Given the description of an element on the screen output the (x, y) to click on. 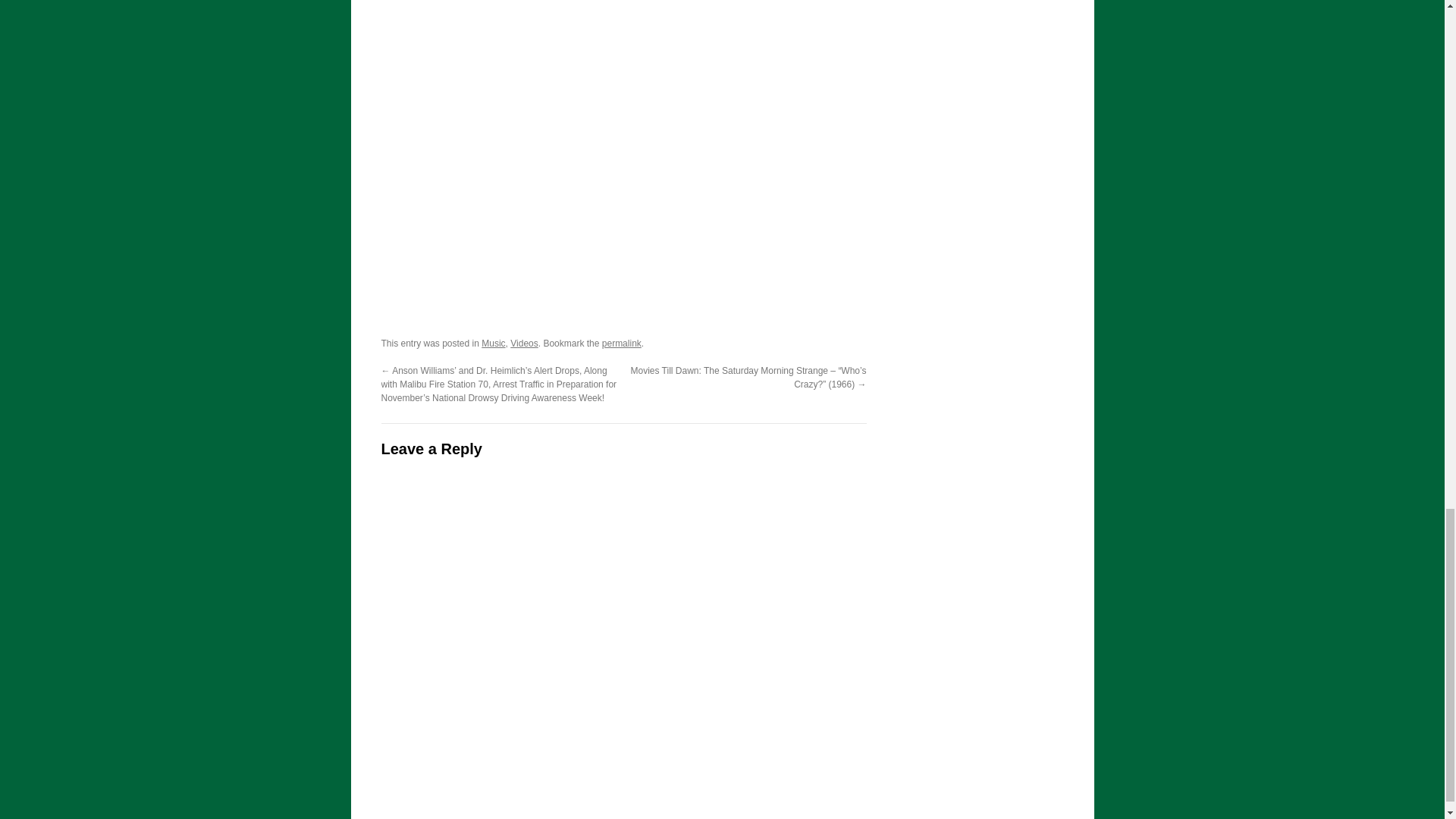
permalink (622, 343)
Videos (524, 343)
Music (493, 343)
